Given the description of an element on the screen output the (x, y) to click on. 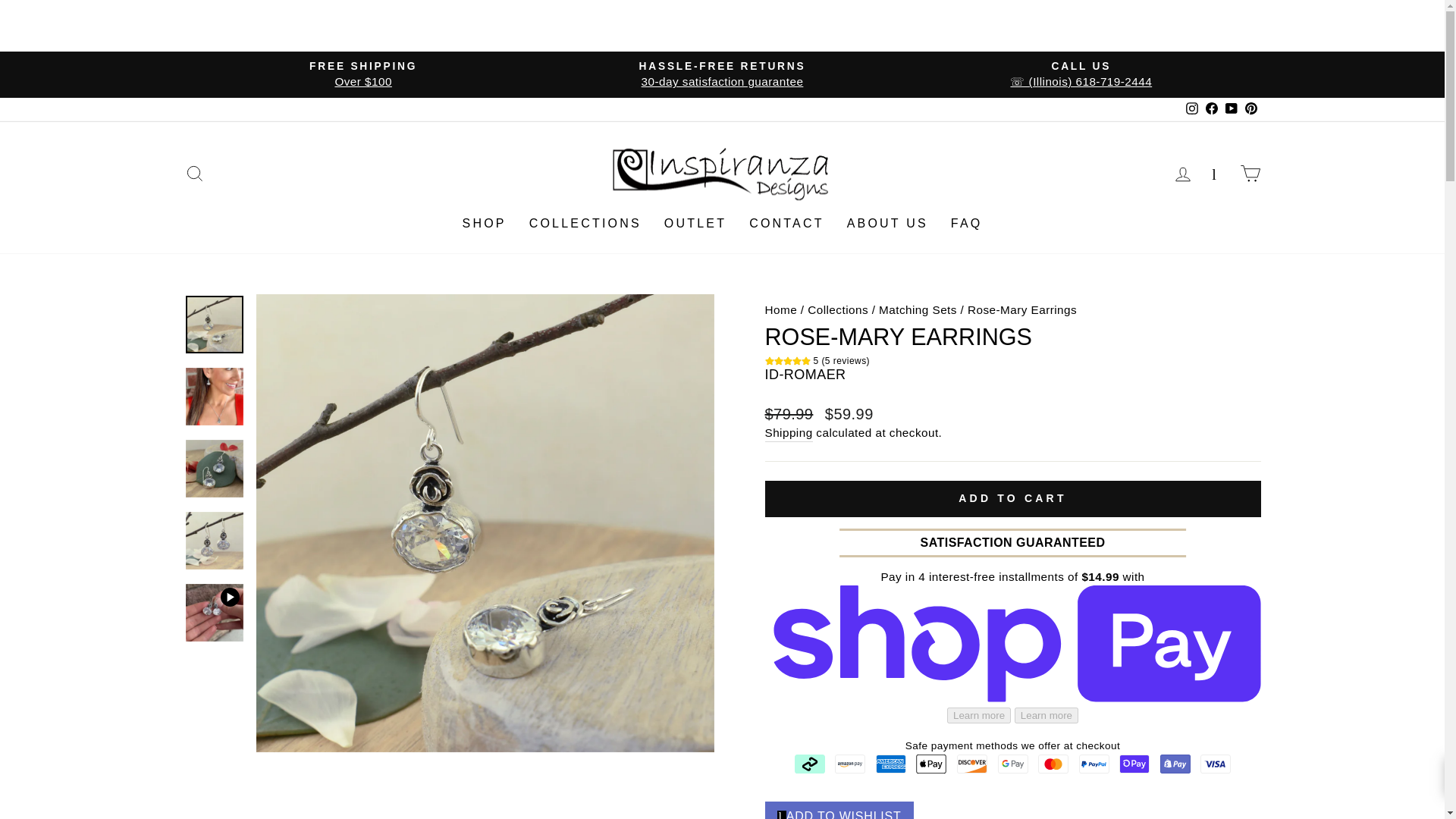
Inspiranza Designs on Instagram (1190, 109)
Inspiranza Designs on YouTube (1230, 109)
Back to the frontpage (780, 309)
Inspiranza Designs on Facebook (722, 74)
Inspiranza Designs on Pinterest (1211, 109)
SATISFACTION GUARANTEED (1250, 109)
